Given the description of an element on the screen output the (x, y) to click on. 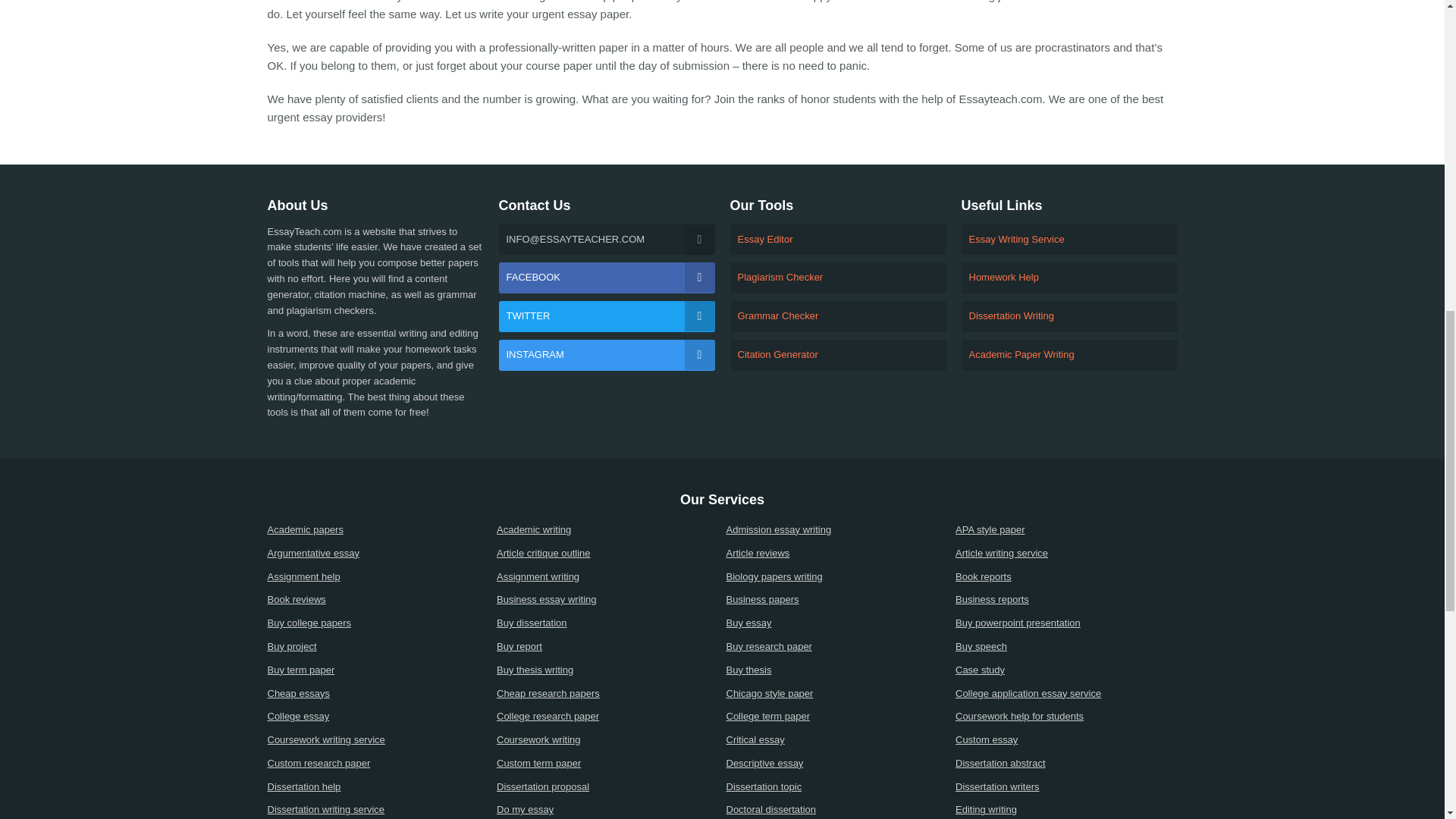
FACEBOOK (606, 277)
Grammar Checker (836, 316)
Assignment help (377, 577)
Plagiarism Checker (836, 277)
APA style paper (1066, 530)
Homework Help (1068, 277)
Book reviews (377, 600)
Business essay writing (607, 600)
Essay Writing Service (1068, 239)
Business reports (1066, 600)
Buy dissertation (607, 623)
Article critique outline (607, 553)
Book reports (1066, 577)
TWITTER (606, 316)
Argumentative essay (377, 553)
